Given the description of an element on the screen output the (x, y) to click on. 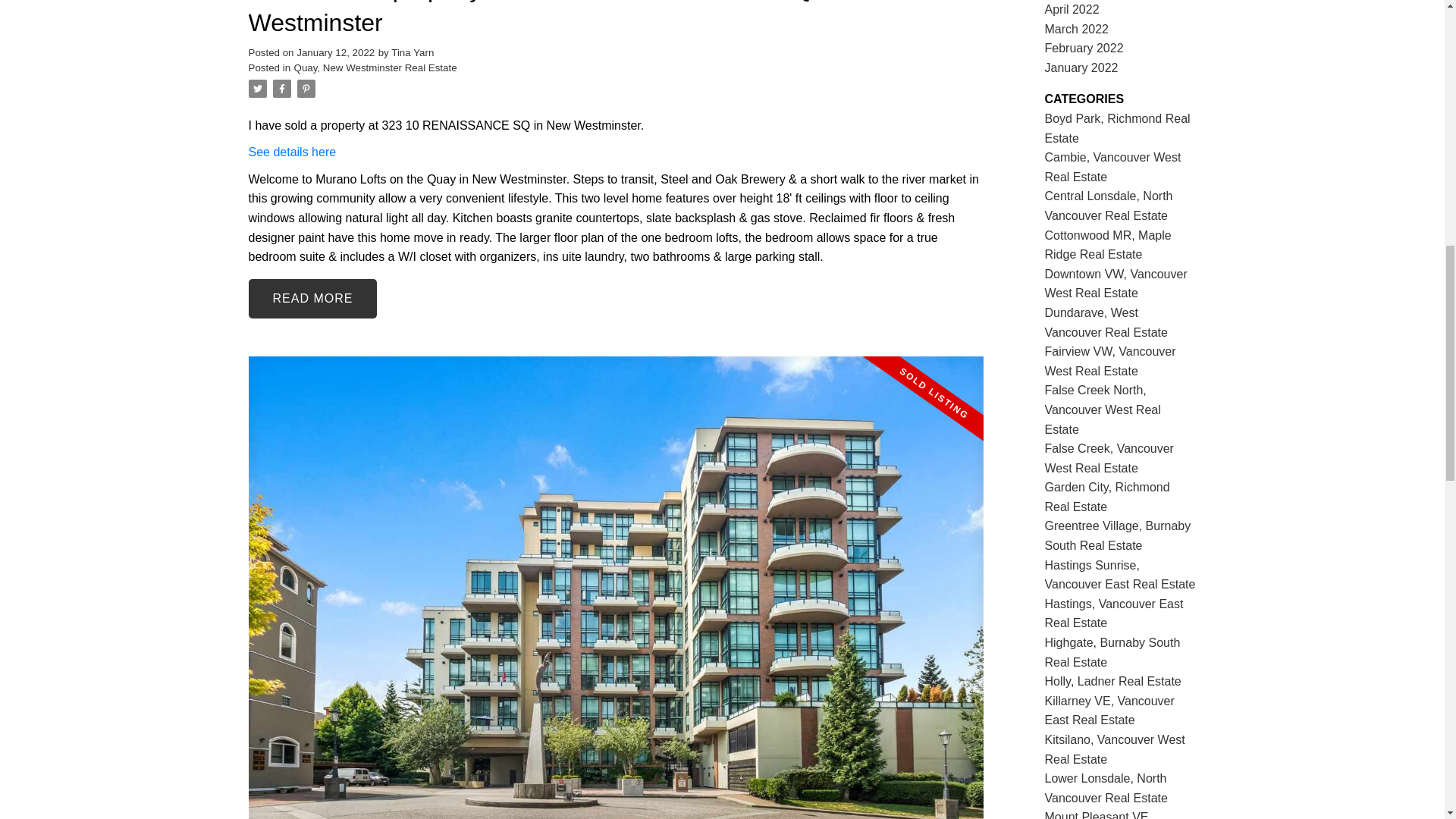
READ (312, 298)
See details here (292, 151)
Quay, New Westminster Real Estate (375, 67)
